Given the description of an element on the screen output the (x, y) to click on. 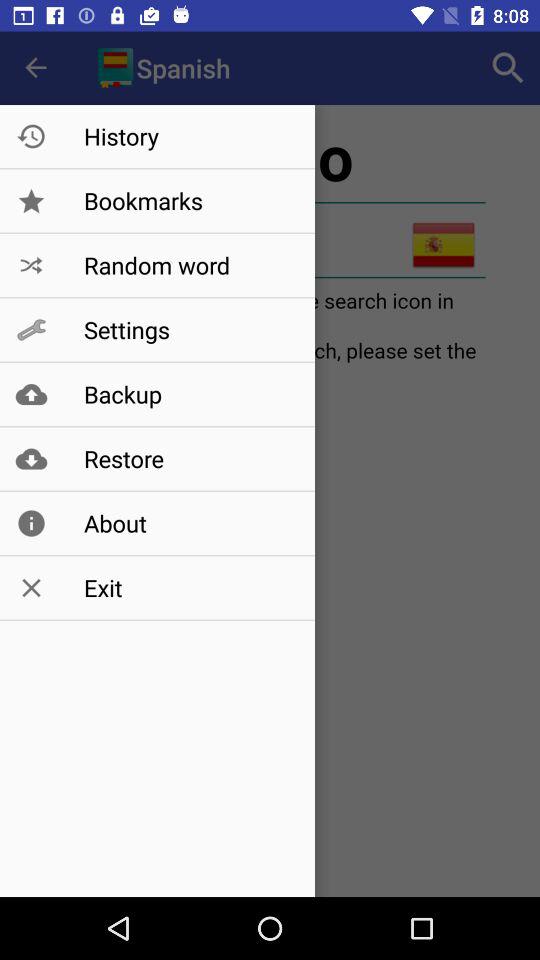
launch bookmarks item (188, 200)
